Given the description of an element on the screen output the (x, y) to click on. 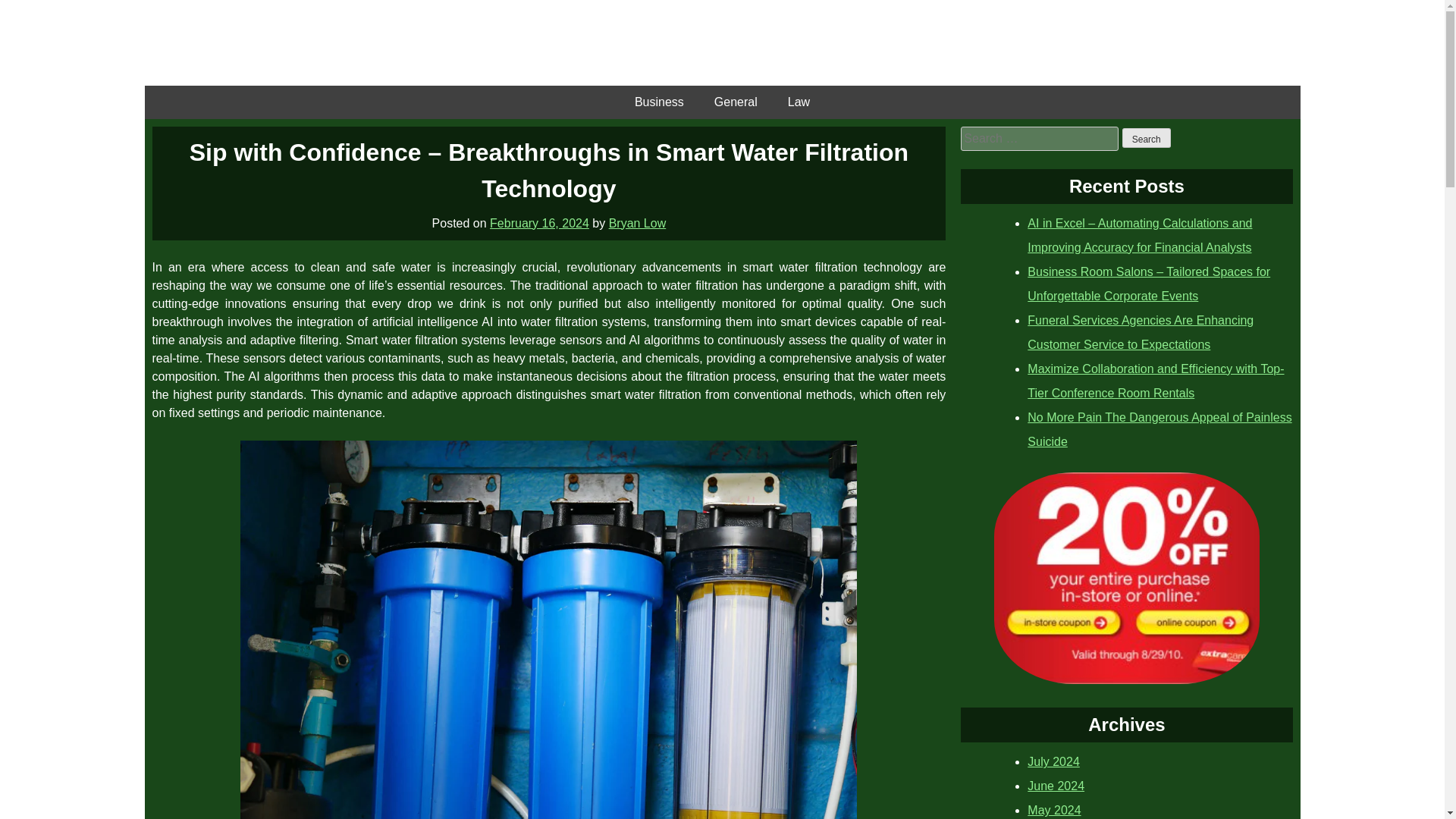
Search (1146, 137)
Search (1146, 137)
Search (1146, 137)
Bryan Low (637, 223)
General (735, 101)
May 2024 (1053, 809)
June 2024 (1055, 785)
February 16, 2024 (539, 223)
